Given the description of an element on the screen output the (x, y) to click on. 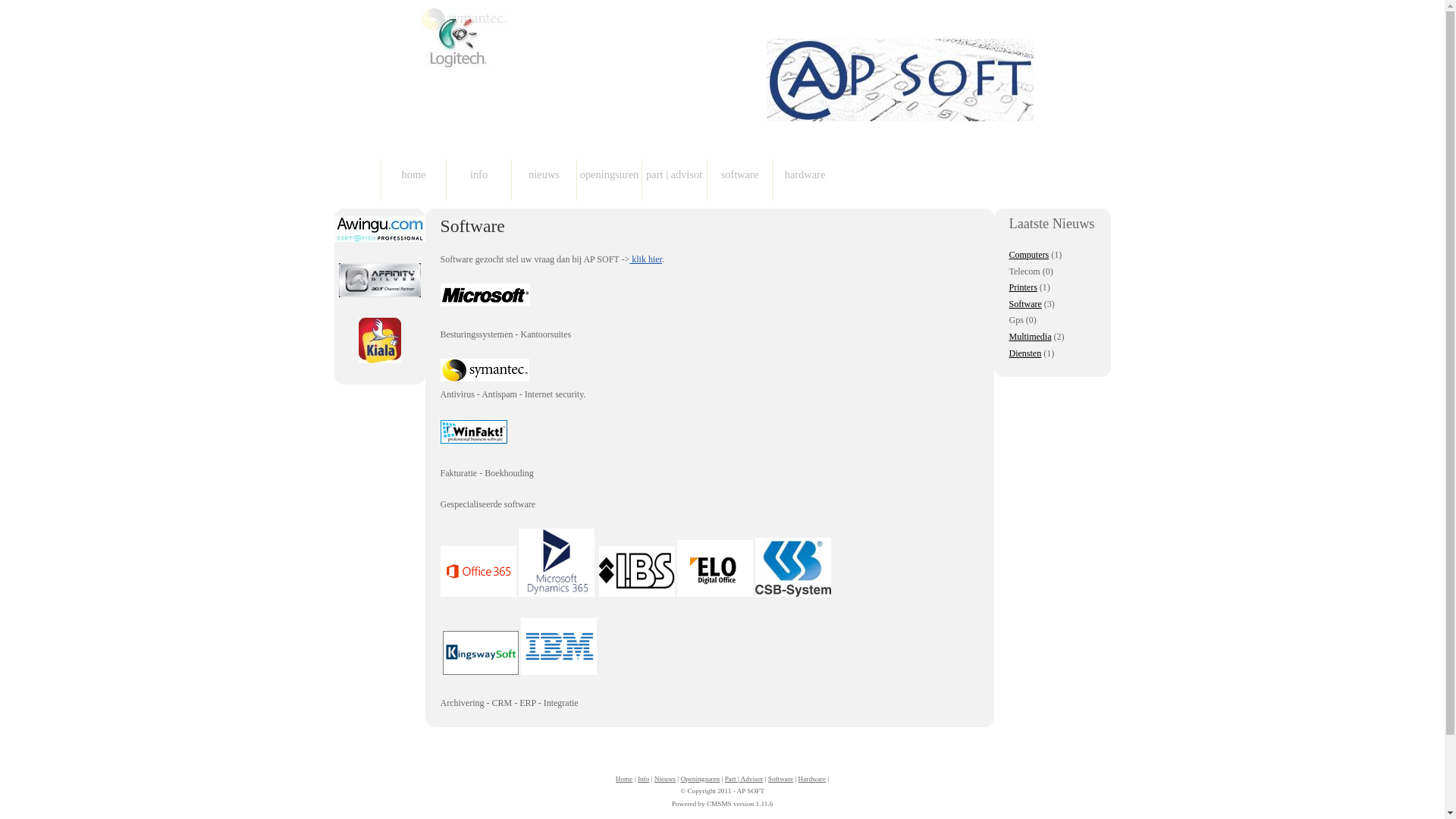
home Element type: text (412, 179)
software Element type: text (738, 179)
Computers Element type: text (1028, 254)
Multimedia Element type: text (1029, 336)
Printers Element type: text (1022, 287)
openingsuren Element type: text (608, 179)
Nieuws Element type: text (664, 778)
Antivirus & Internet Security Element type: hover (483, 369)
Home Element type: text (624, 778)
Hardware Element type: text (811, 778)
Software Element type: text (1024, 303)
part | advisor Element type: text (673, 179)
klik hier Element type: text (645, 259)
hardware Element type: text (804, 179)
Awingu Certified Professional Element type: hover (378, 228)
Uw Kiala punt Element type: hover (378, 340)
Part | Advisor Element type: text (743, 778)
Info Element type: text (643, 778)
Software Element type: text (780, 778)
Besturingssystemen & Kantoorsuites Element type: hover (484, 294)
info Element type: text (478, 179)
nieuws Element type: text (543, 179)
Openingsuren Element type: text (699, 778)
Diensten Element type: text (1024, 353)
